Given the description of an element on the screen output the (x, y) to click on. 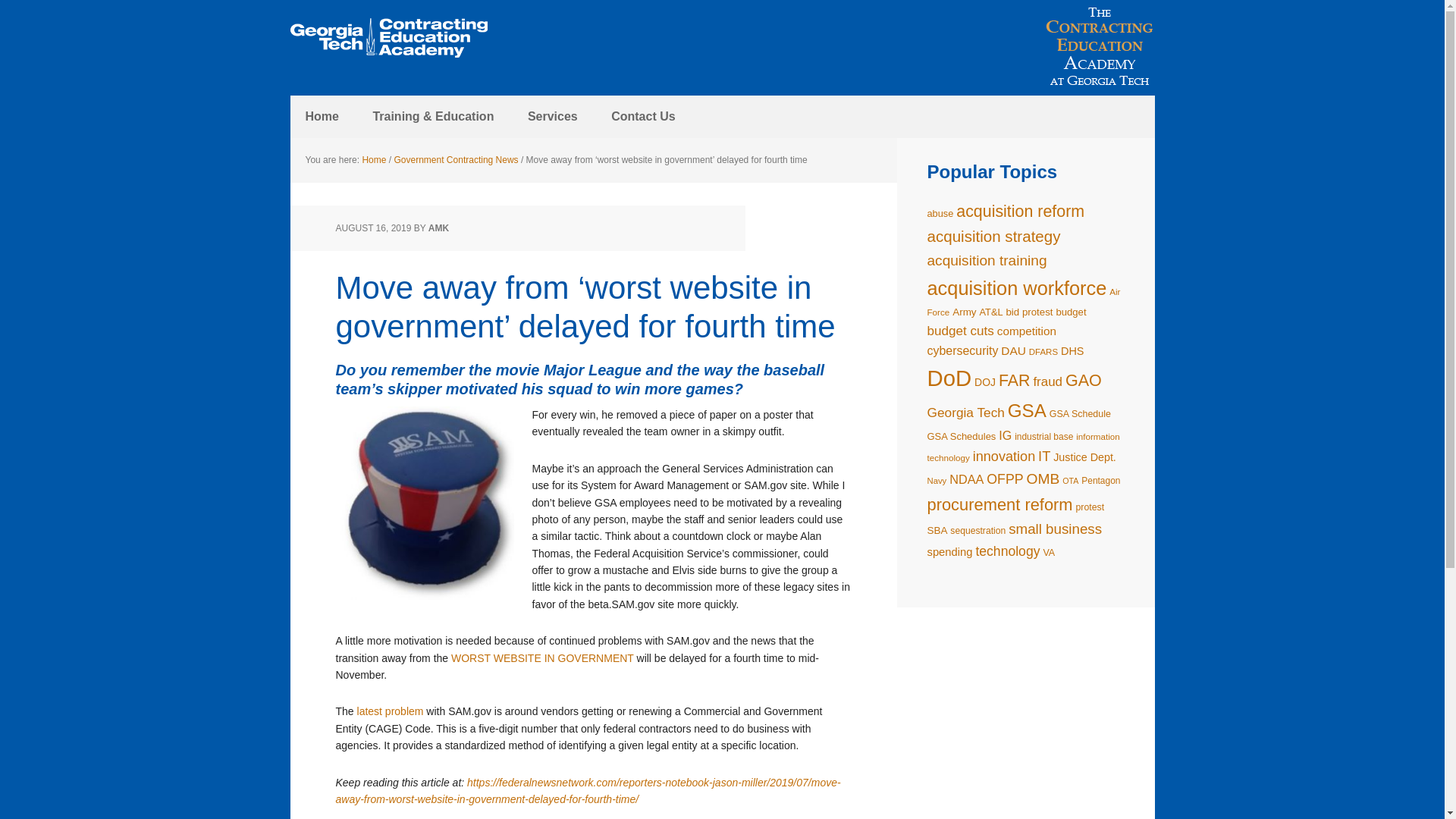
GSA Schedule (1079, 413)
DOJ (984, 381)
fraud (1047, 381)
DFARS (1043, 351)
DHS (1072, 350)
DoD (948, 377)
latest problem (389, 711)
GSA (1026, 410)
The Contracting Education Academy (387, 38)
budget cuts (959, 330)
